Given the description of an element on the screen output the (x, y) to click on. 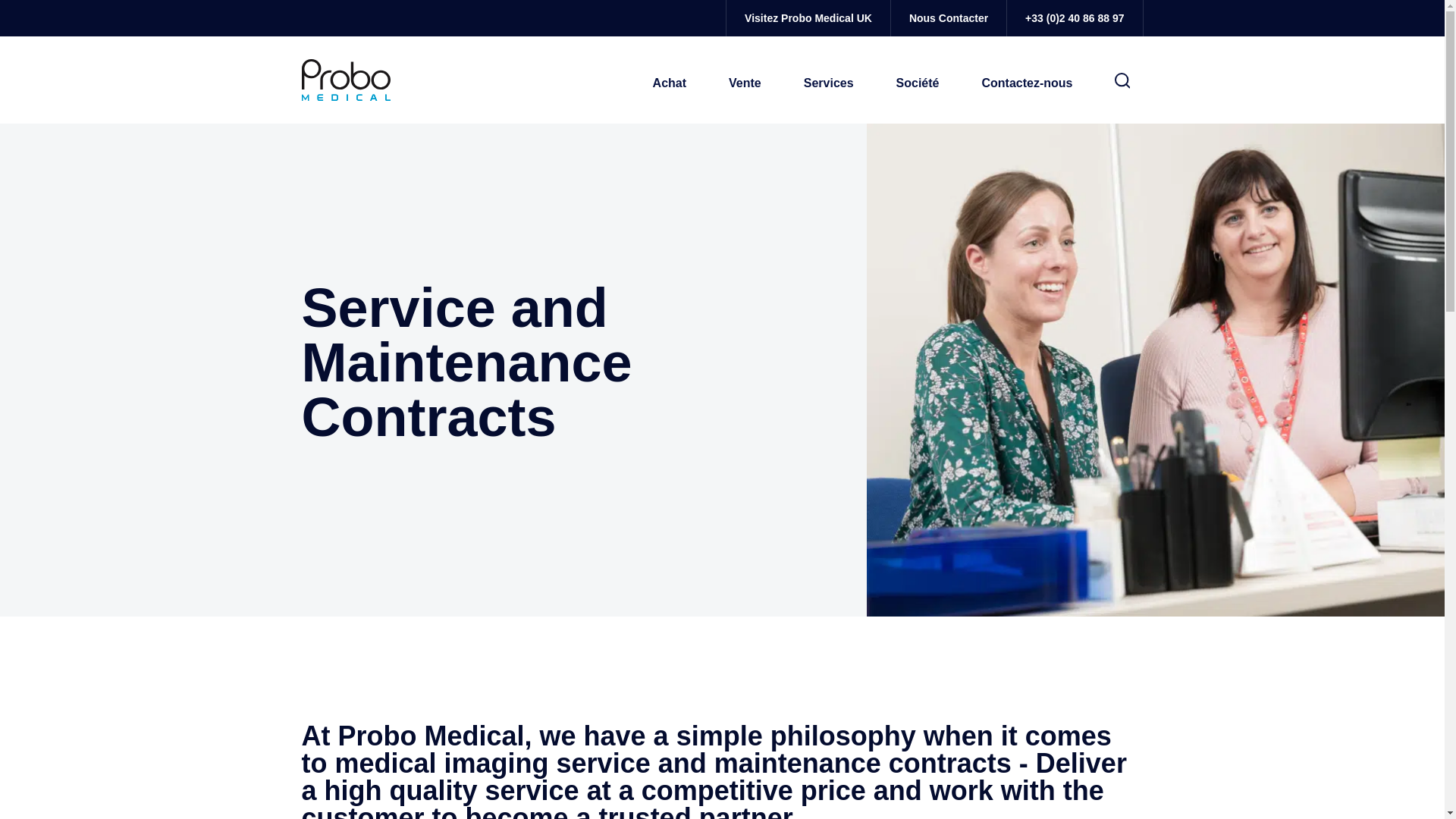
Contactez-nous (1026, 83)
Visitez Probo Medical UK (807, 18)
Vente (745, 83)
Achat (669, 83)
Services (829, 83)
Nous Contacter (948, 18)
